Given the description of an element on the screen output the (x, y) to click on. 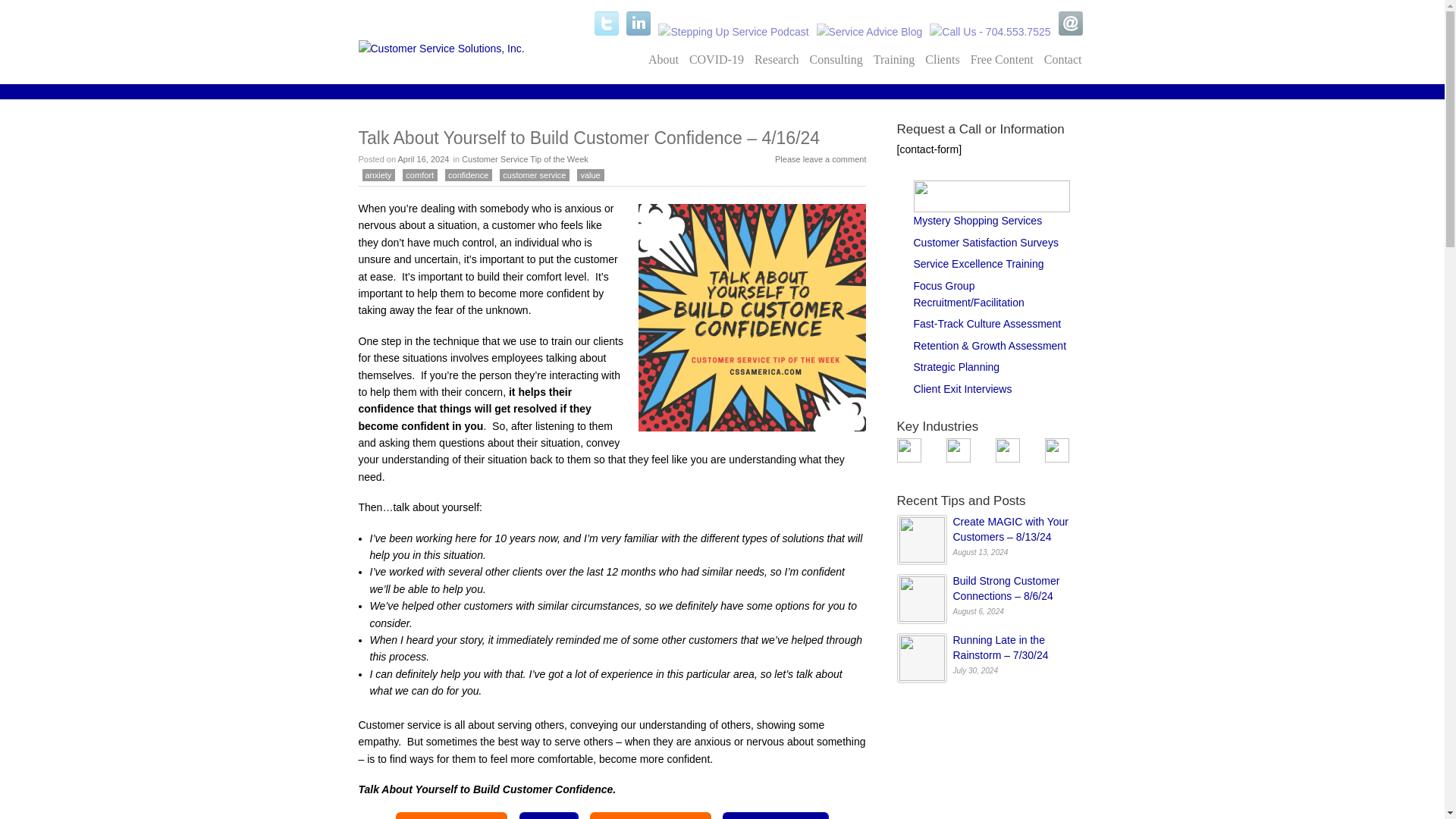
Training (893, 59)
 LinkedIn (638, 23)
Clients (941, 59)
 Stepping Up Service Podcast (733, 31)
Consulting (836, 59)
About (663, 59)
Research (777, 59)
COVID-19 (716, 59)
 Call Us - 704.553.7525 (989, 31)
 Service Advice Blog (869, 31)
